Given the description of an element on the screen output the (x, y) to click on. 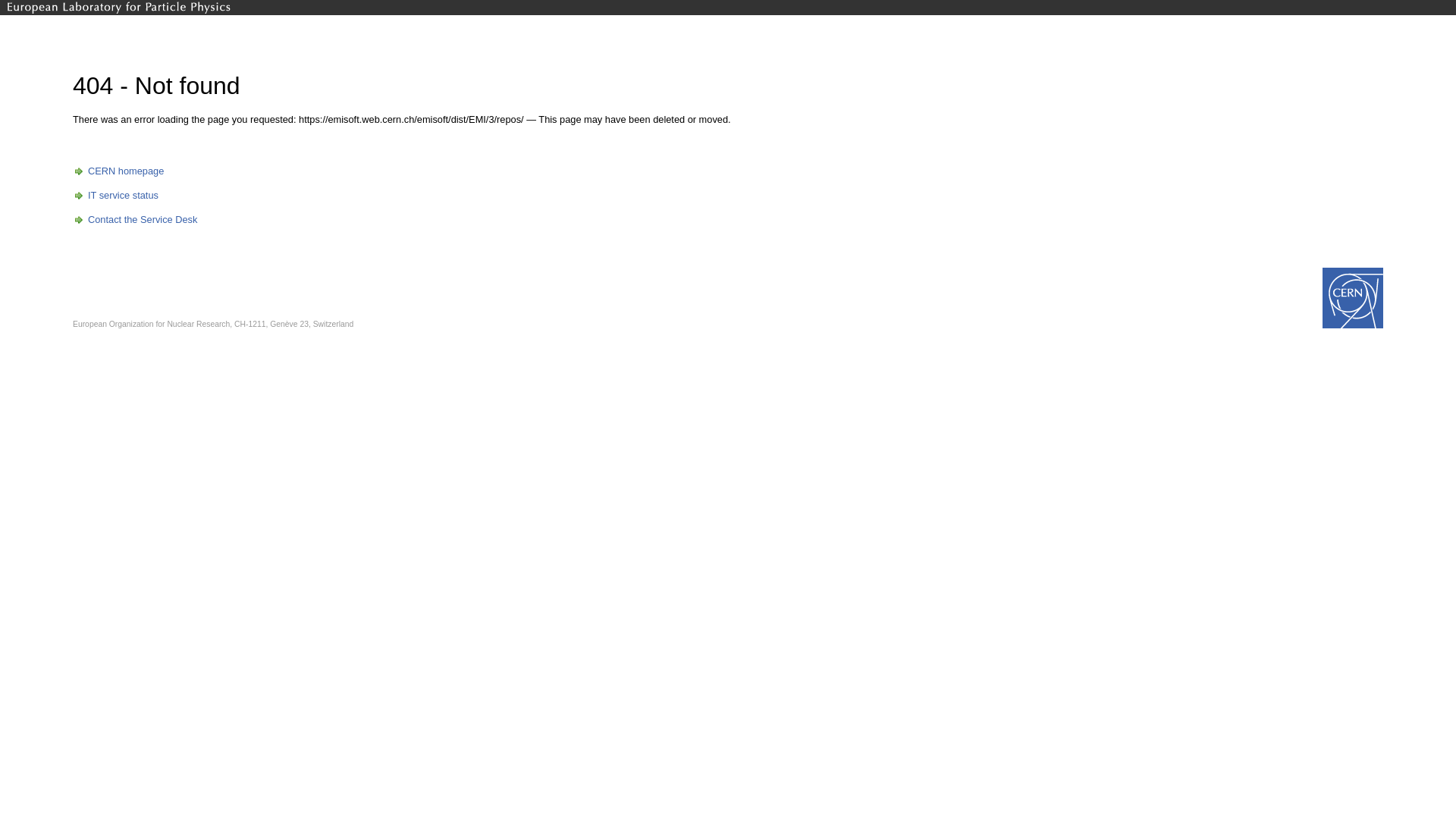
CERN homepage Element type: text (117, 170)
cern.ch Element type: hover (118, 7)
Contact the Service Desk Element type: text (134, 219)
IT service status Element type: text (115, 194)
www.cern.ch Element type: hover (1352, 297)
